Given the description of an element on the screen output the (x, y) to click on. 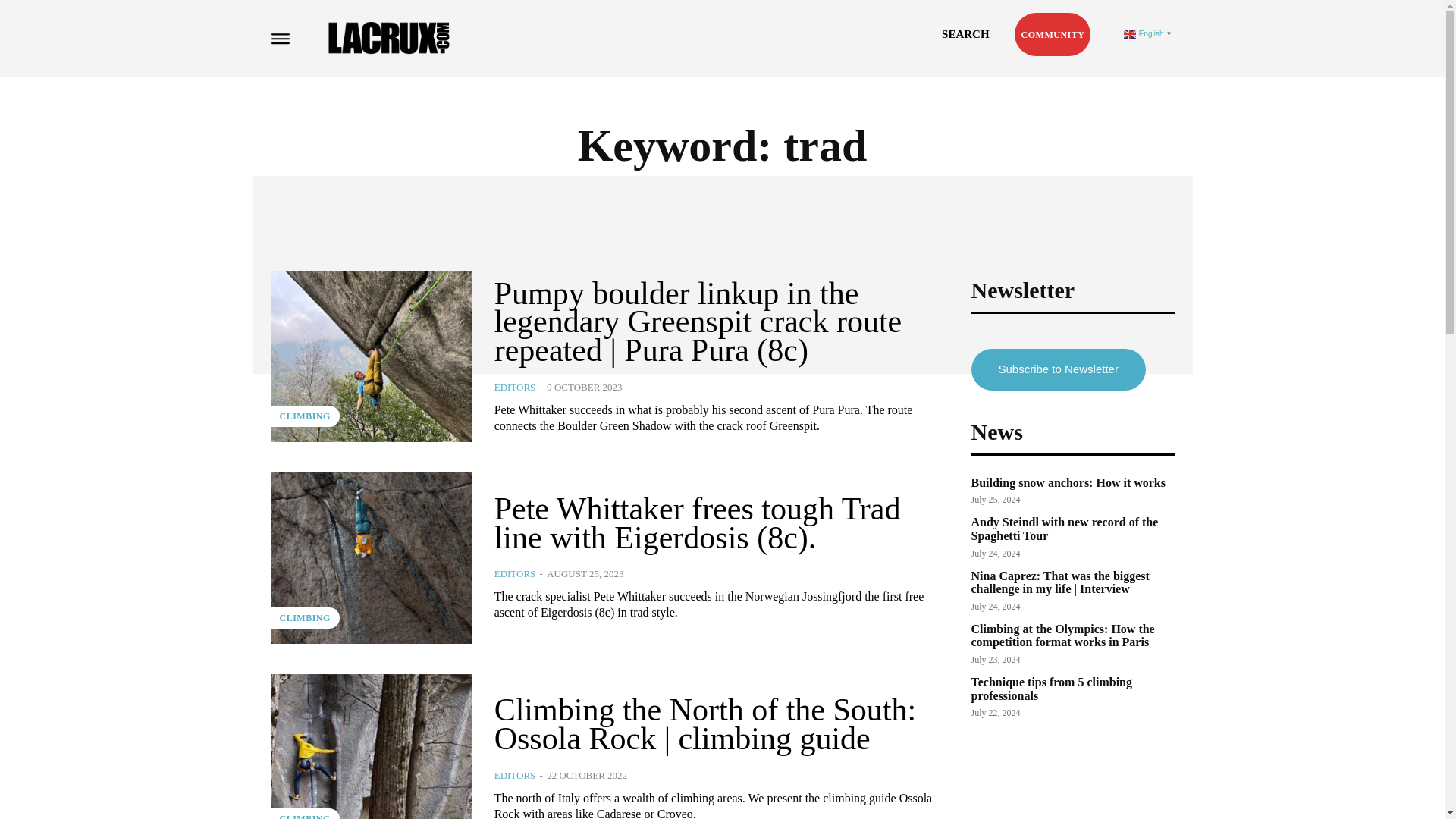
Community (1052, 34)
